Given the description of an element on the screen output the (x, y) to click on. 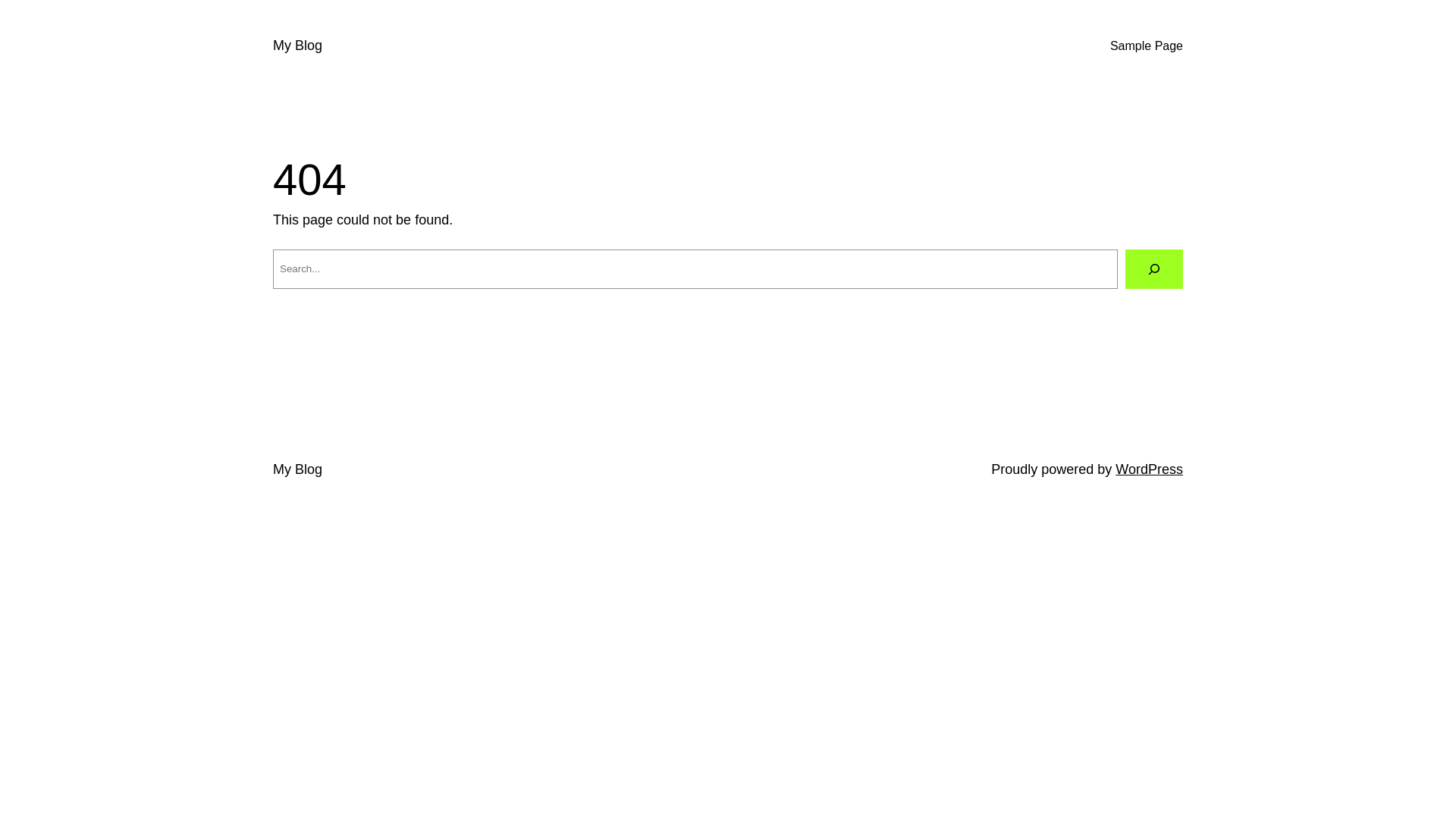
Sample Page Element type: text (1146, 46)
My Blog Element type: text (297, 45)
My Blog Element type: text (297, 468)
WordPress Element type: text (1149, 468)
